Given the description of an element on the screen output the (x, y) to click on. 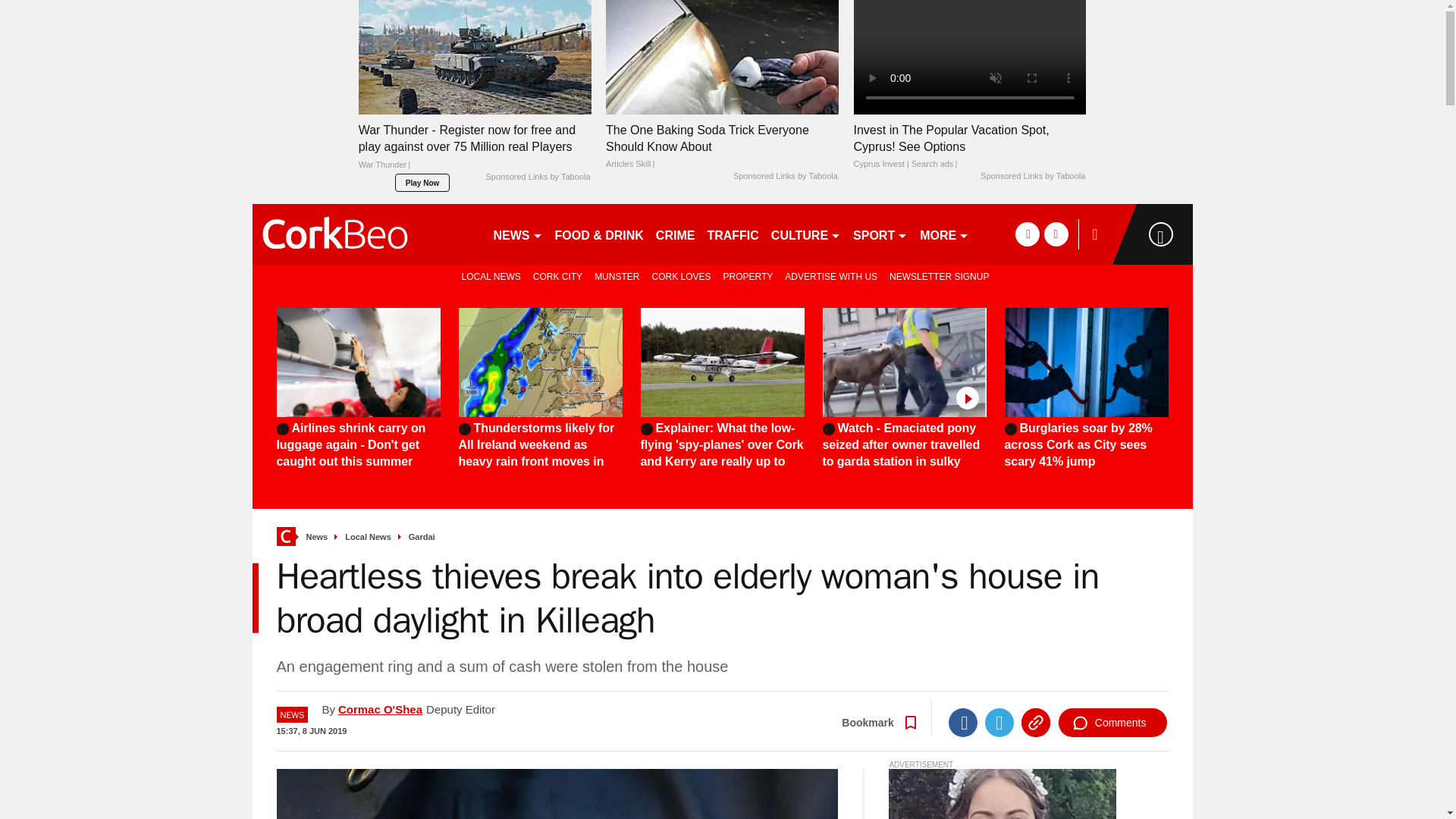
Play Now (421, 182)
The One Baking Soda Trick Everyone Should Know About (721, 57)
Sponsored Links by Taboola (1031, 176)
facebook (1026, 233)
Invest in The Popular Vacation Spot, Cyprus! See Options (969, 57)
SPORT (880, 233)
TRAFFIC (732, 233)
Facebook (962, 722)
Twitter (999, 722)
twitter (1055, 233)
Comments (1112, 722)
Sponsored Links by Taboola (785, 176)
Invest in The Popular Vacation Spot, Cyprus! See Options (969, 146)
NEWS (517, 233)
